Given the description of an element on the screen output the (x, y) to click on. 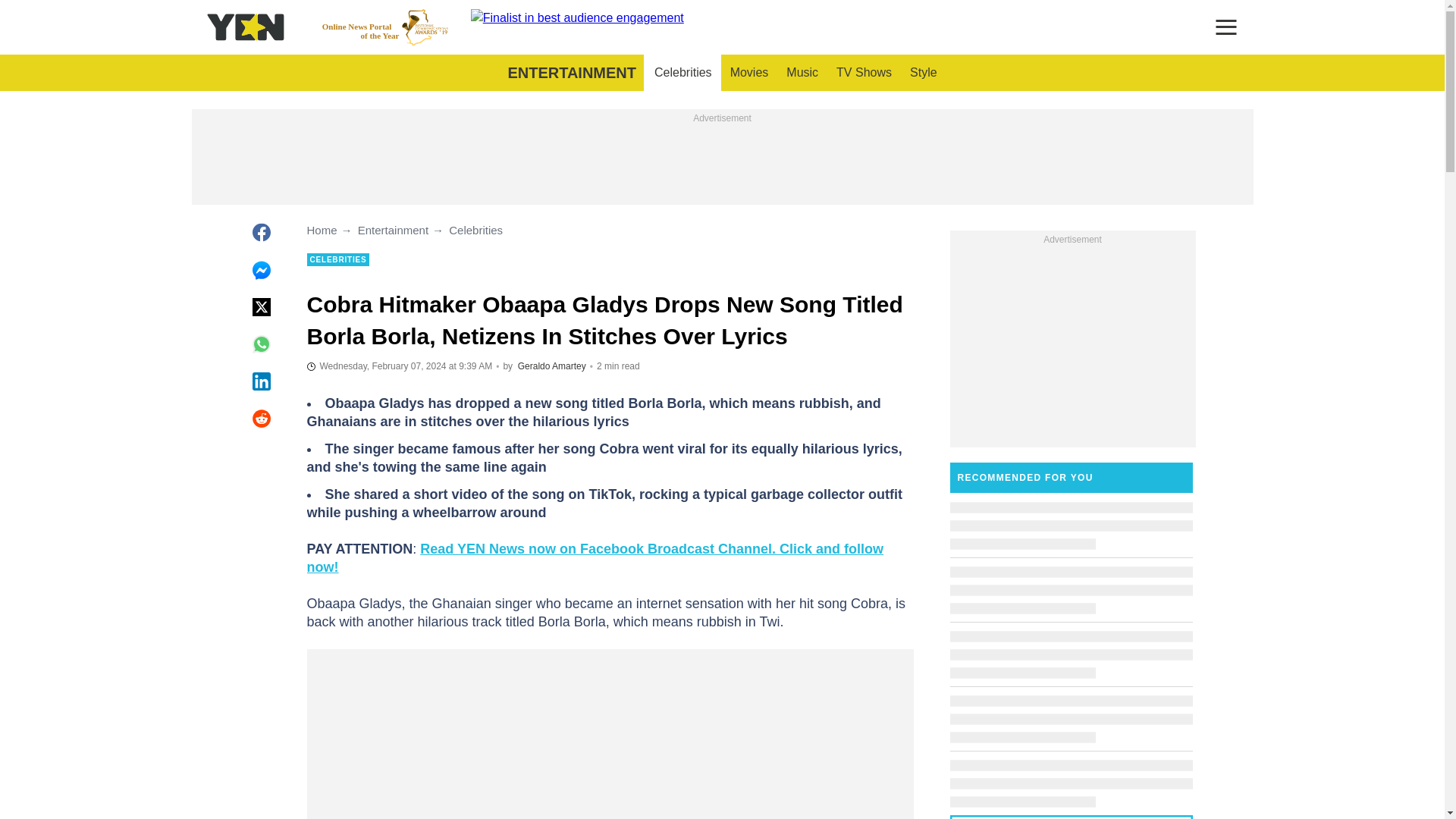
FB Broadcast Channel (594, 557)
Music (802, 72)
Style (923, 72)
ENTERTAINMENT (384, 27)
TV Shows (571, 72)
Celebrities (864, 72)
Movies (682, 72)
2024-02-07T09:39:58Z (748, 72)
Author page (398, 366)
